Given the description of an element on the screen output the (x, y) to click on. 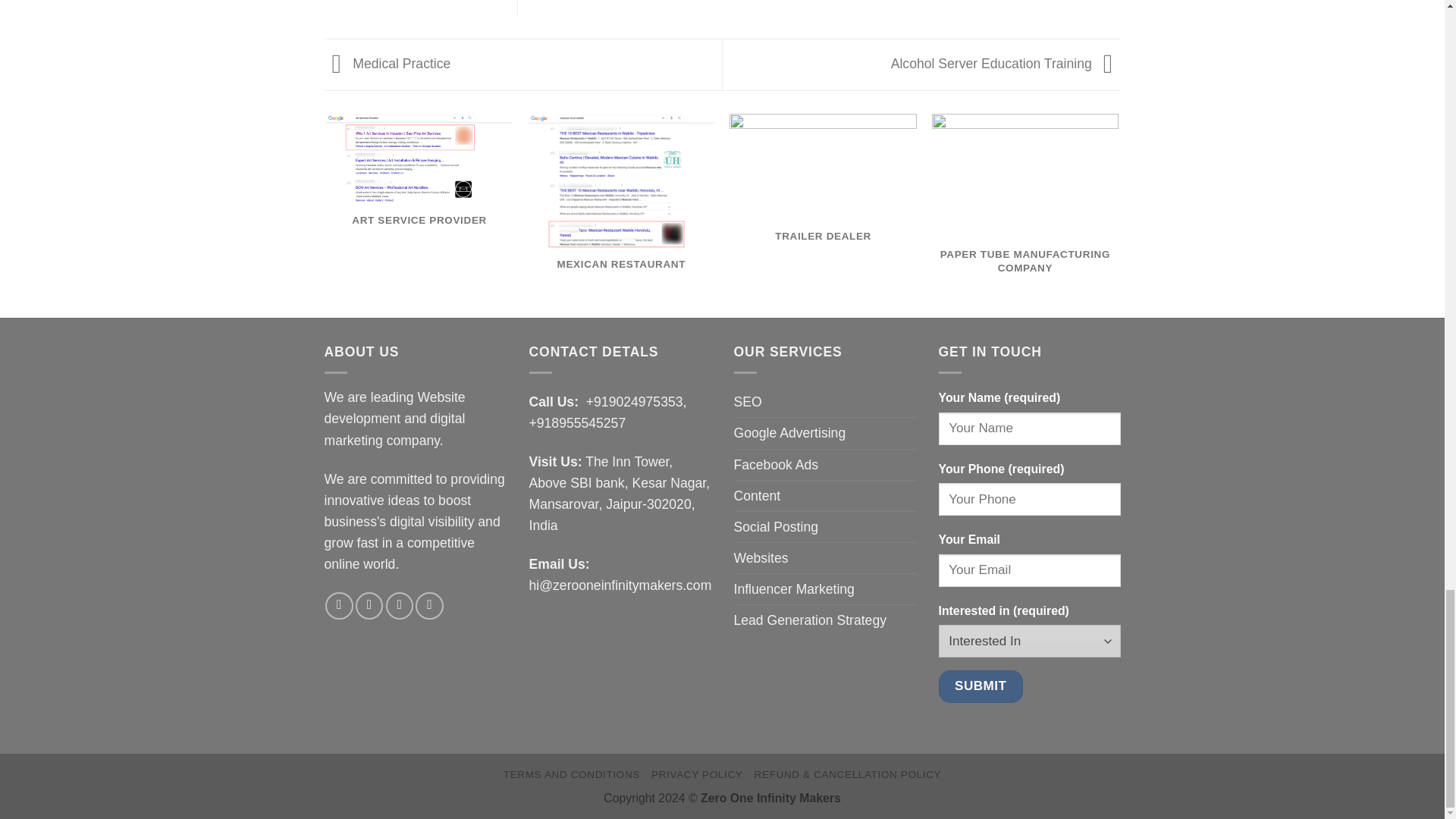
Follow on Instagram (368, 605)
MEXICAN RESTAURANT (620, 206)
Medical Practice (387, 63)
Follow on LinkedIn (428, 605)
Submit (981, 686)
LANDSCAPING COMPANY (1227, 195)
TRAILER DEALER (823, 192)
Medical Practice (387, 63)
Alcohol Server Education Training (1006, 63)
Alcohol Server Education Training (1006, 63)
